Given the description of an element on the screen output the (x, y) to click on. 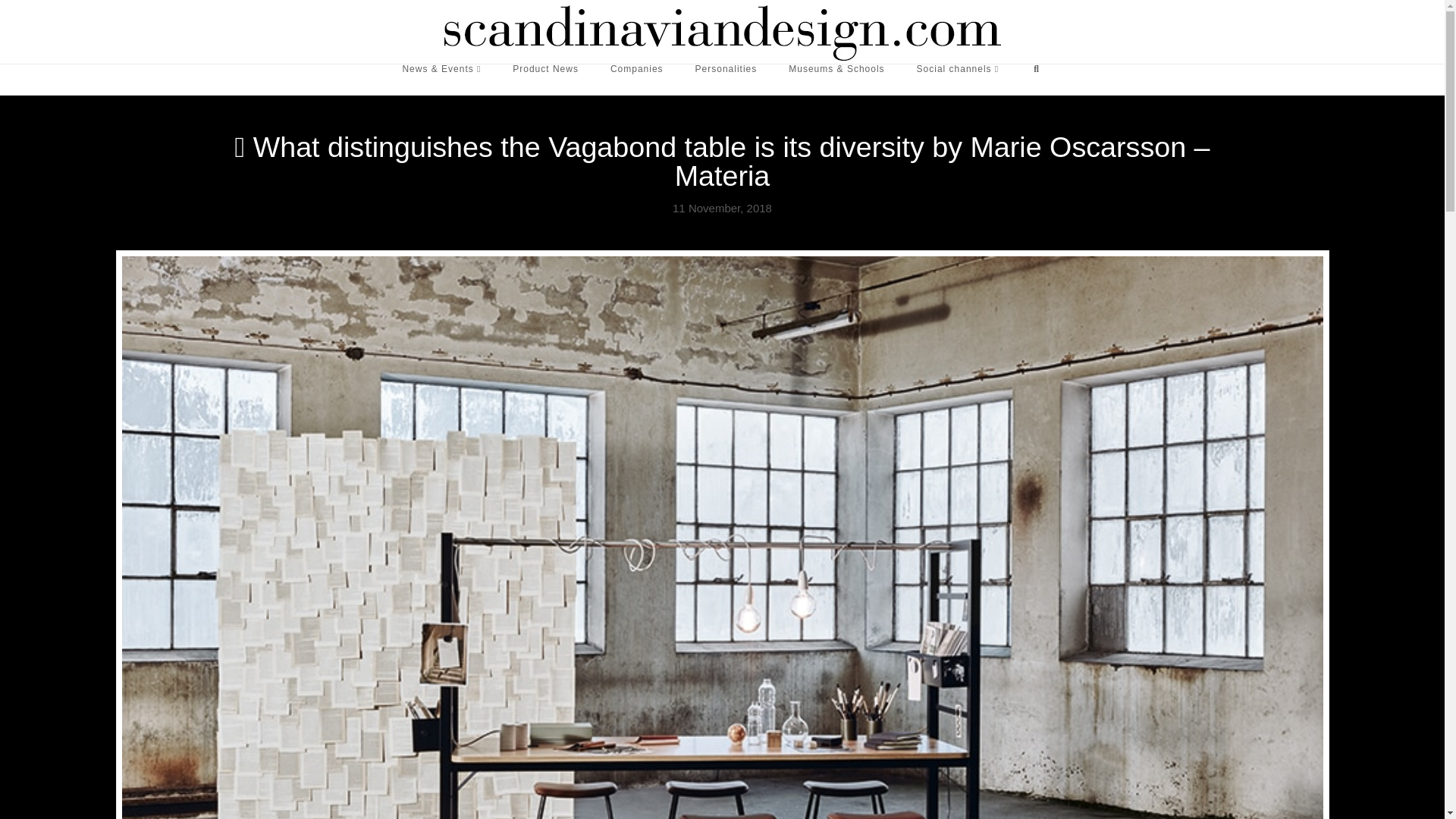
Social channels (957, 79)
Personalities (726, 79)
Product News (545, 79)
Companies (636, 79)
